Given the description of an element on the screen output the (x, y) to click on. 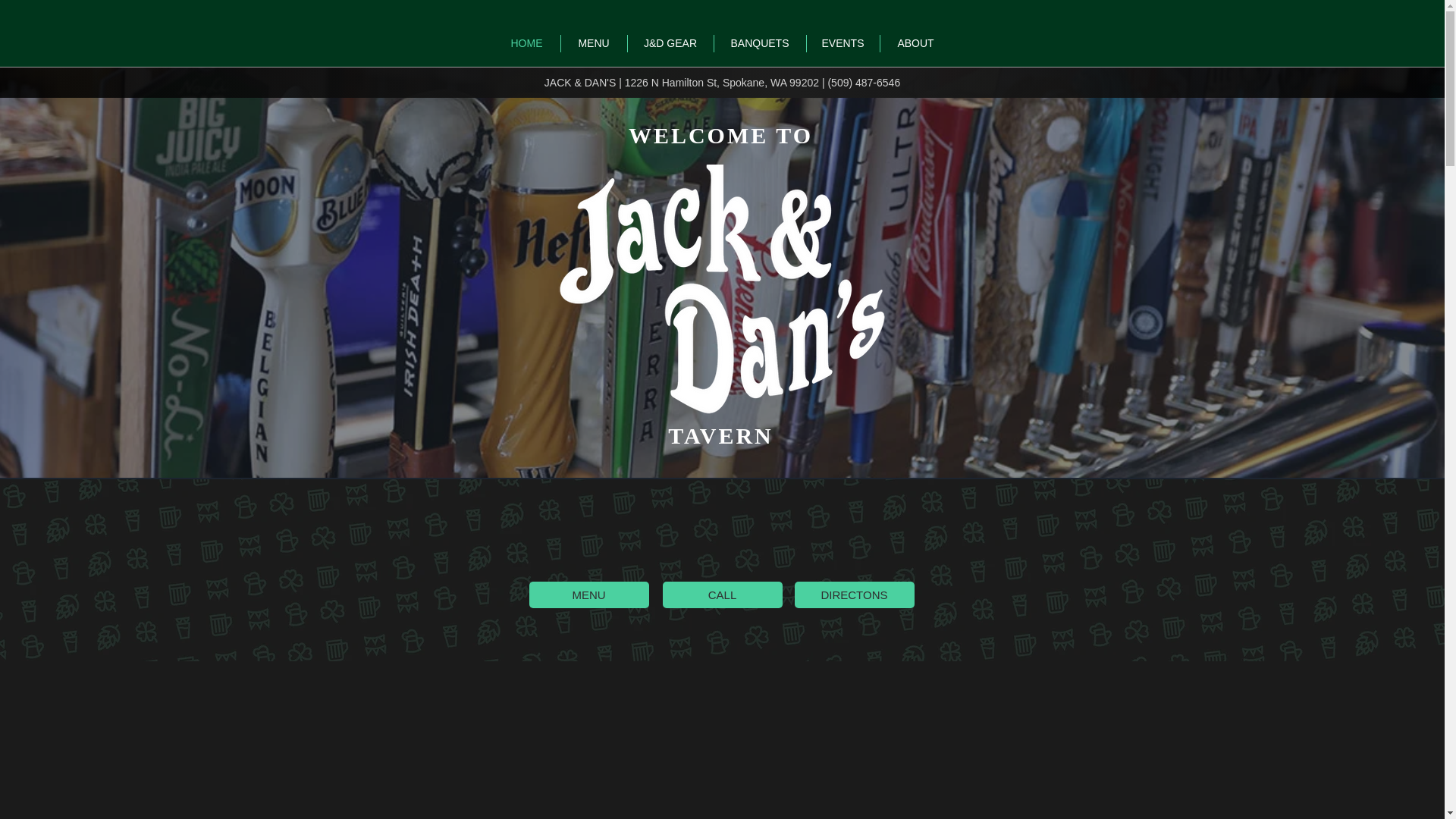
HOME (526, 43)
EVENTS (842, 43)
ABOUT (914, 43)
MENU (589, 594)
DIRECTONS (854, 594)
CALL (722, 594)
MENU (593, 43)
BANQUETS (760, 43)
